Given the description of an element on the screen output the (x, y) to click on. 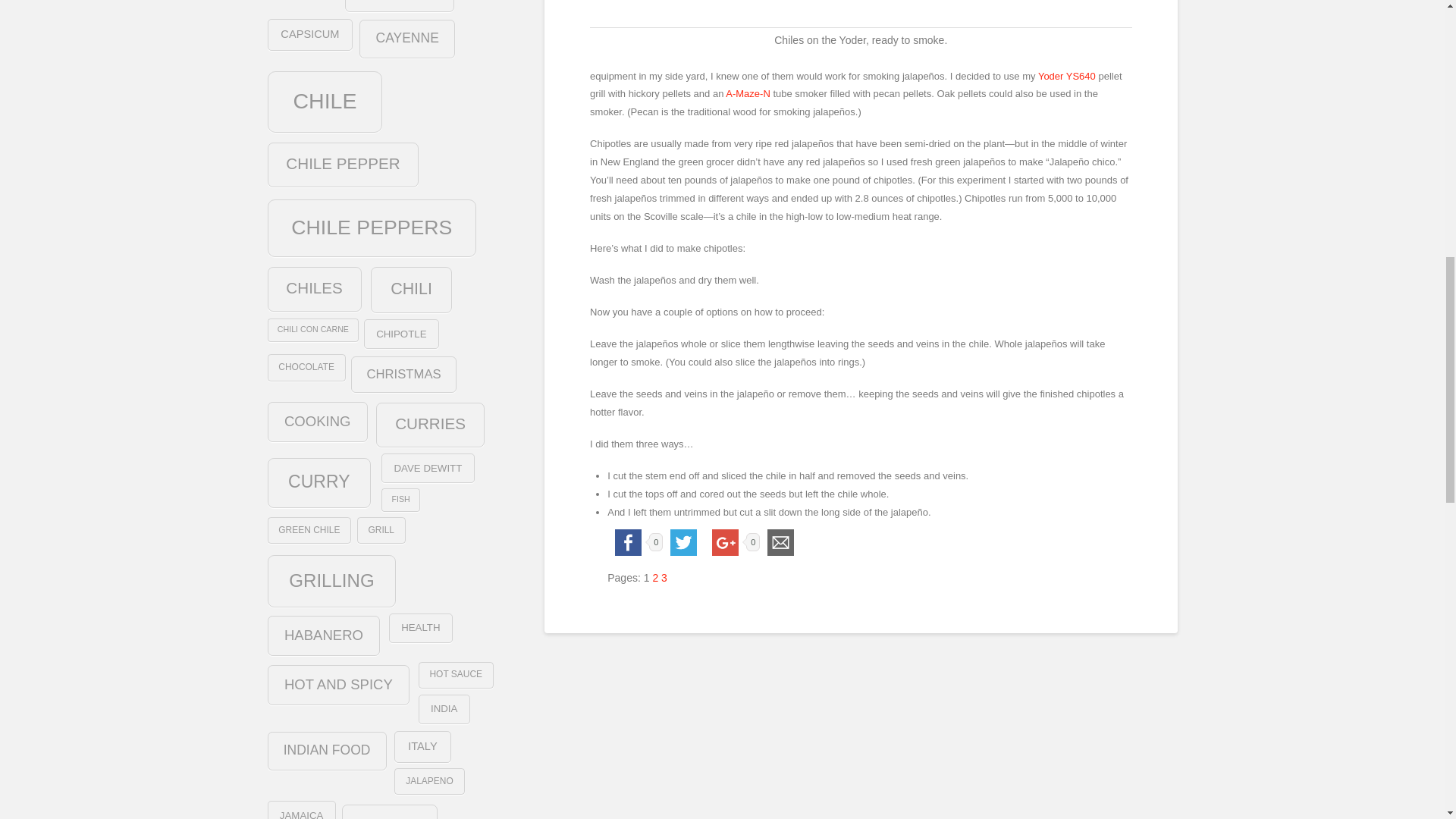
Email (781, 542)
Twitter (683, 542)
Chiles on the Yoder ready to smoke. (954, 7)
Facebook (628, 542)
